Given the description of an element on the screen output the (x, y) to click on. 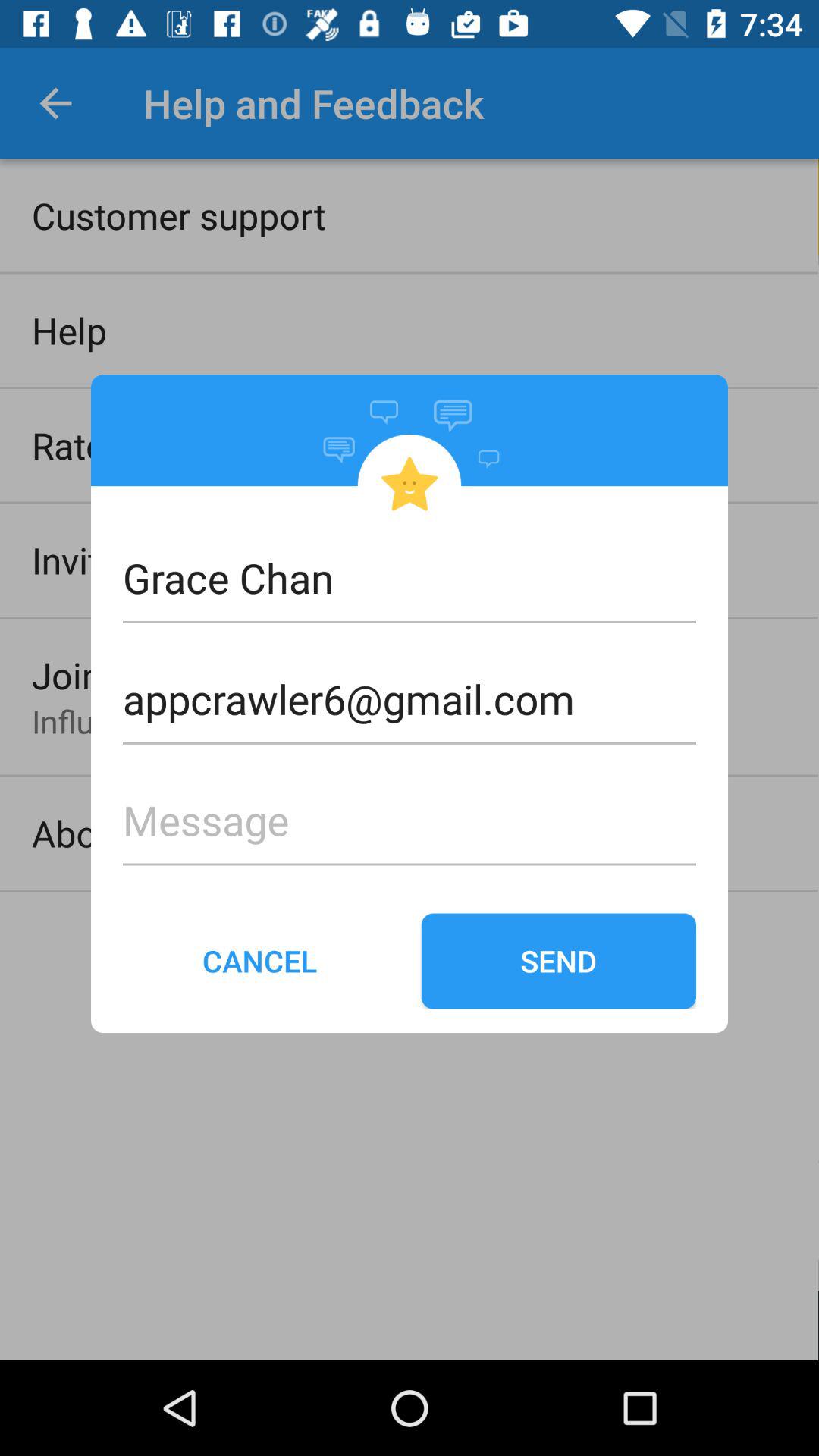
choose item to the left of send (259, 960)
